Given the description of an element on the screen output the (x, y) to click on. 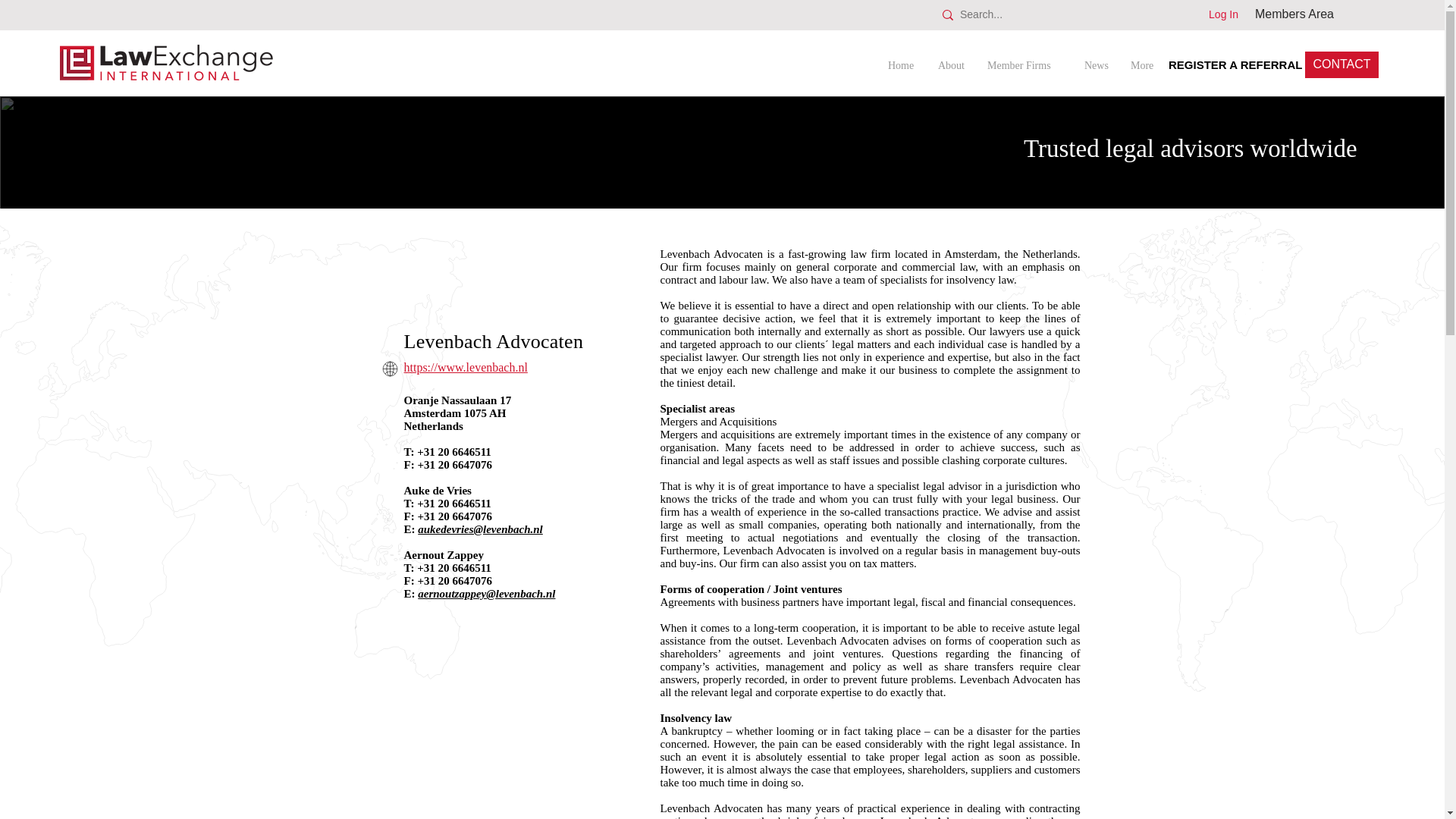
LawExchange Interntional Logo (167, 62)
About (956, 58)
Log In (1223, 15)
Members Area (1294, 14)
Home (906, 58)
REGISTER A REFERRAL (1235, 64)
CONTACT (1341, 64)
Member Firms (1029, 58)
